Given the description of an element on the screen output the (x, y) to click on. 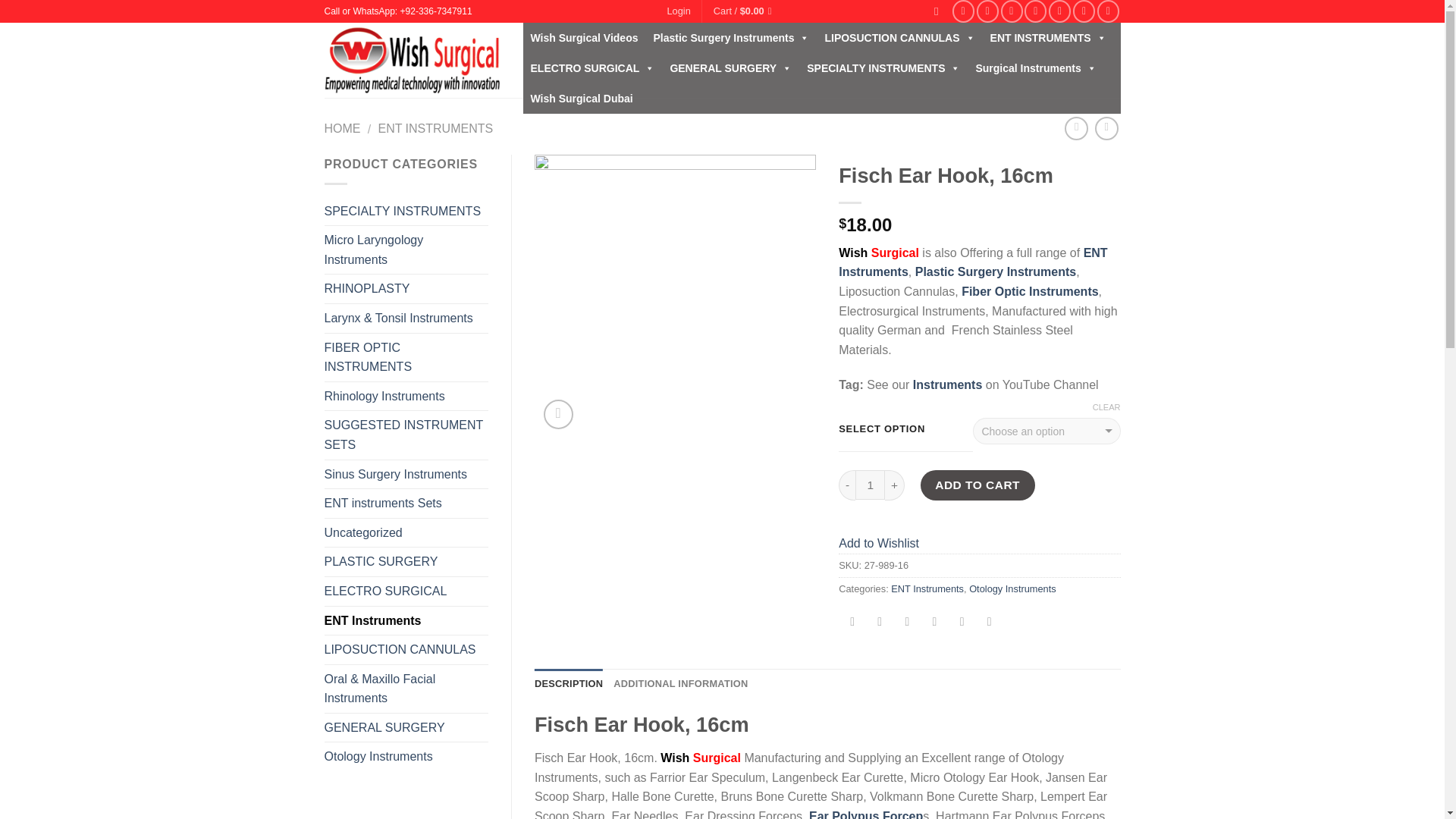
Cart (745, 11)
LIPOSUCTION CANNULAS (898, 37)
1 (870, 484)
Follow on Twitter (1012, 11)
Qty (870, 484)
Plastic Surgery Instruments (731, 37)
Follow on YouTube (1108, 11)
Follow on Facebook (963, 11)
Wish Surgical -  (412, 60)
Follow on LinkedIn (1083, 11)
Zoom (558, 414)
Wish Surgical Videos (584, 37)
Follow on Instagram (987, 11)
Send us an email (1035, 11)
Share on Facebook (852, 623)
